Given the description of an element on the screen output the (x, y) to click on. 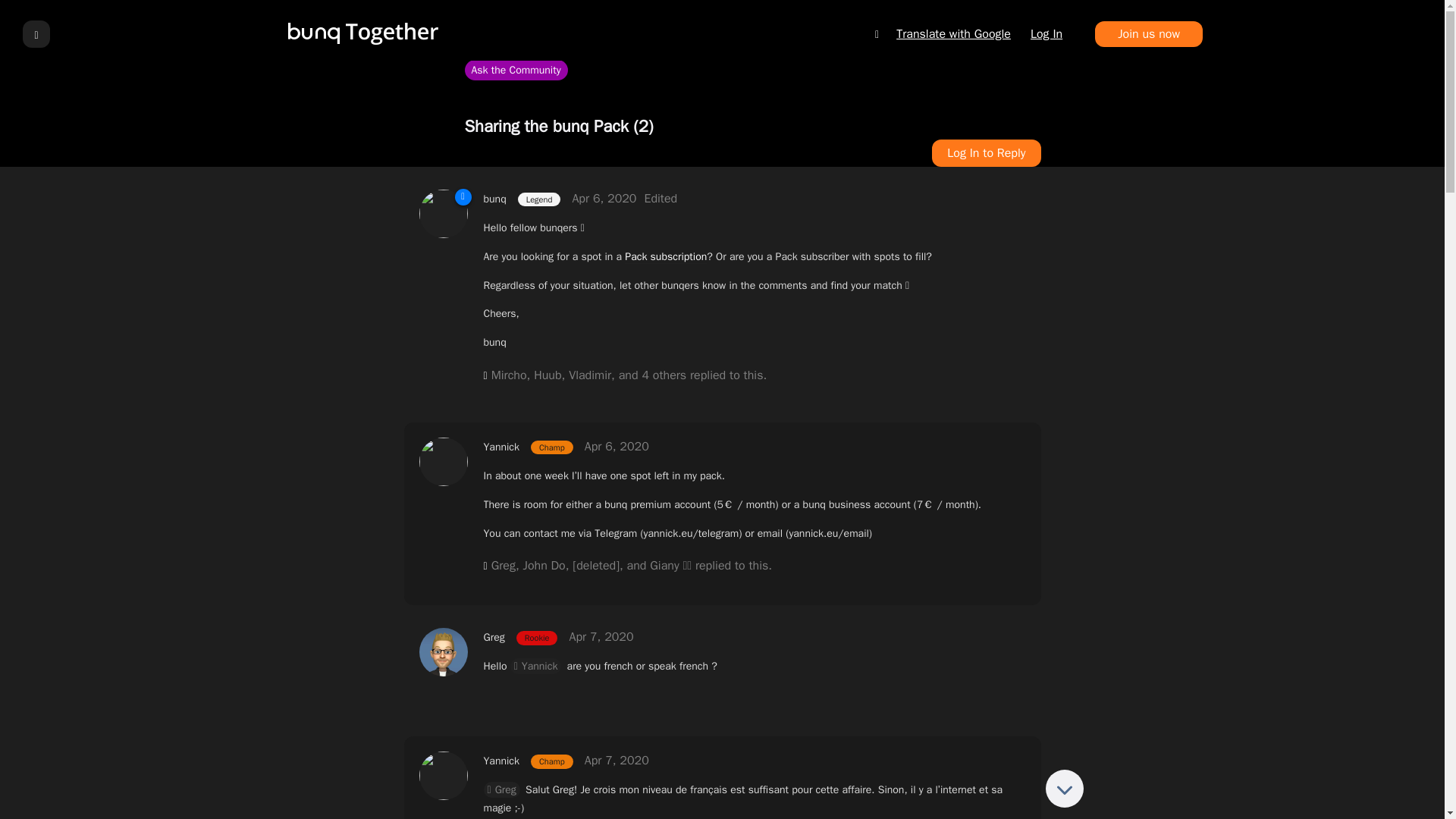
Apr 6, 2020 (617, 446)
Log In to Reply (986, 153)
Tuesday, April 7, 2020 12:10 AM (601, 636)
Greg (503, 565)
Log In to Reply (986, 153)
Now (1064, 788)
Yannick (501, 760)
Monday, April 6, 2020 11:54 PM (617, 446)
John Do (544, 565)
Yannick (536, 666)
Apr 7, 2020 (601, 636)
Yannick (501, 446)
Vladimir (590, 375)
Ask the Community (515, 69)
Translate with Google (942, 33)
